Given the description of an element on the screen output the (x, y) to click on. 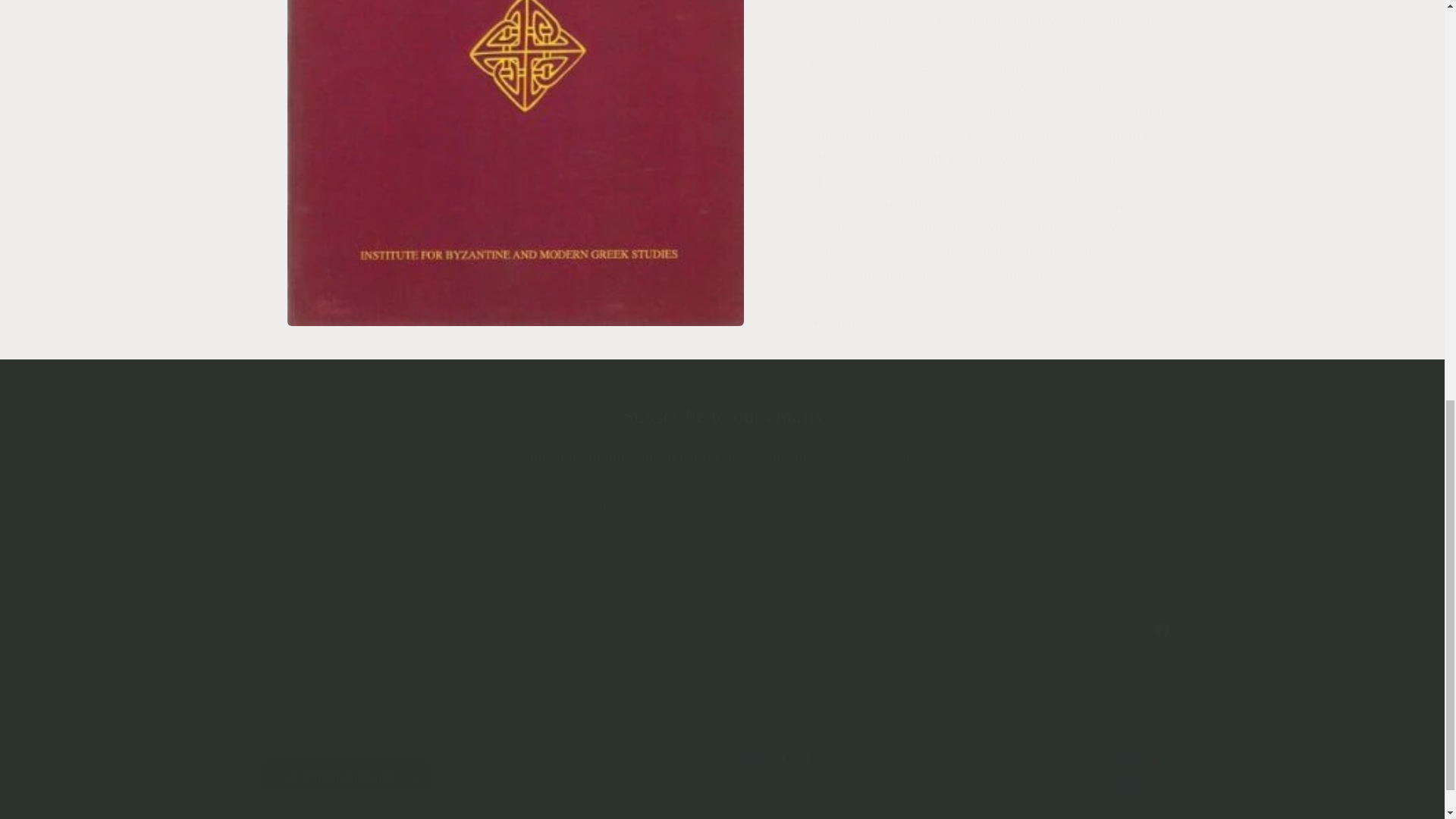
Facebook (721, 628)
Subscribe to our emails (722, 416)
Email (722, 504)
Open media 1 in modal (515, 47)
